Given the description of an element on the screen output the (x, y) to click on. 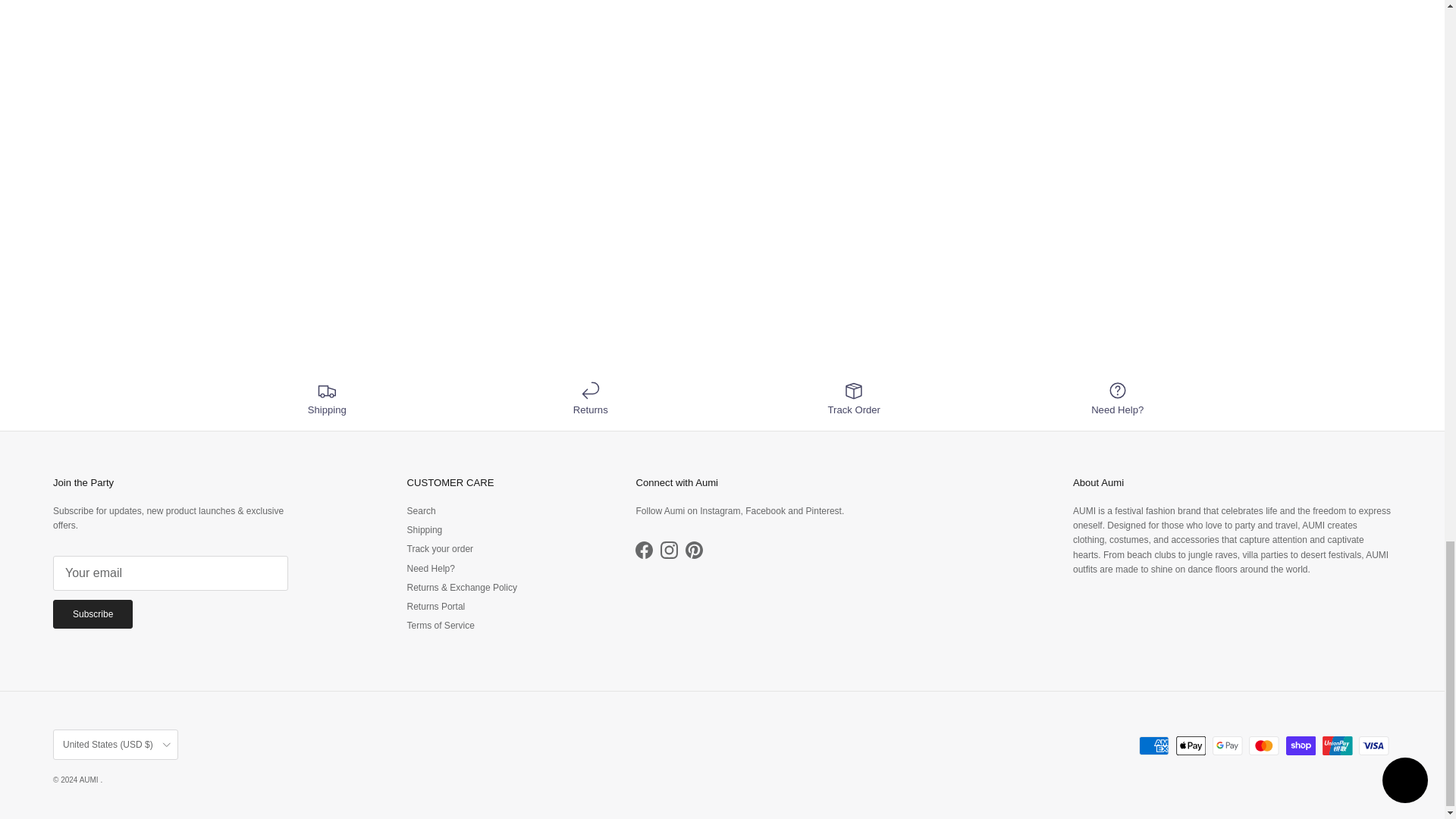
Apple Pay (1190, 745)
AUMI  on Facebook (643, 549)
American Express (1153, 745)
AUMI  on Instagram (669, 549)
AUMI  on Pinterest (694, 549)
Google Pay (1226, 745)
